Given the description of an element on the screen output the (x, y) to click on. 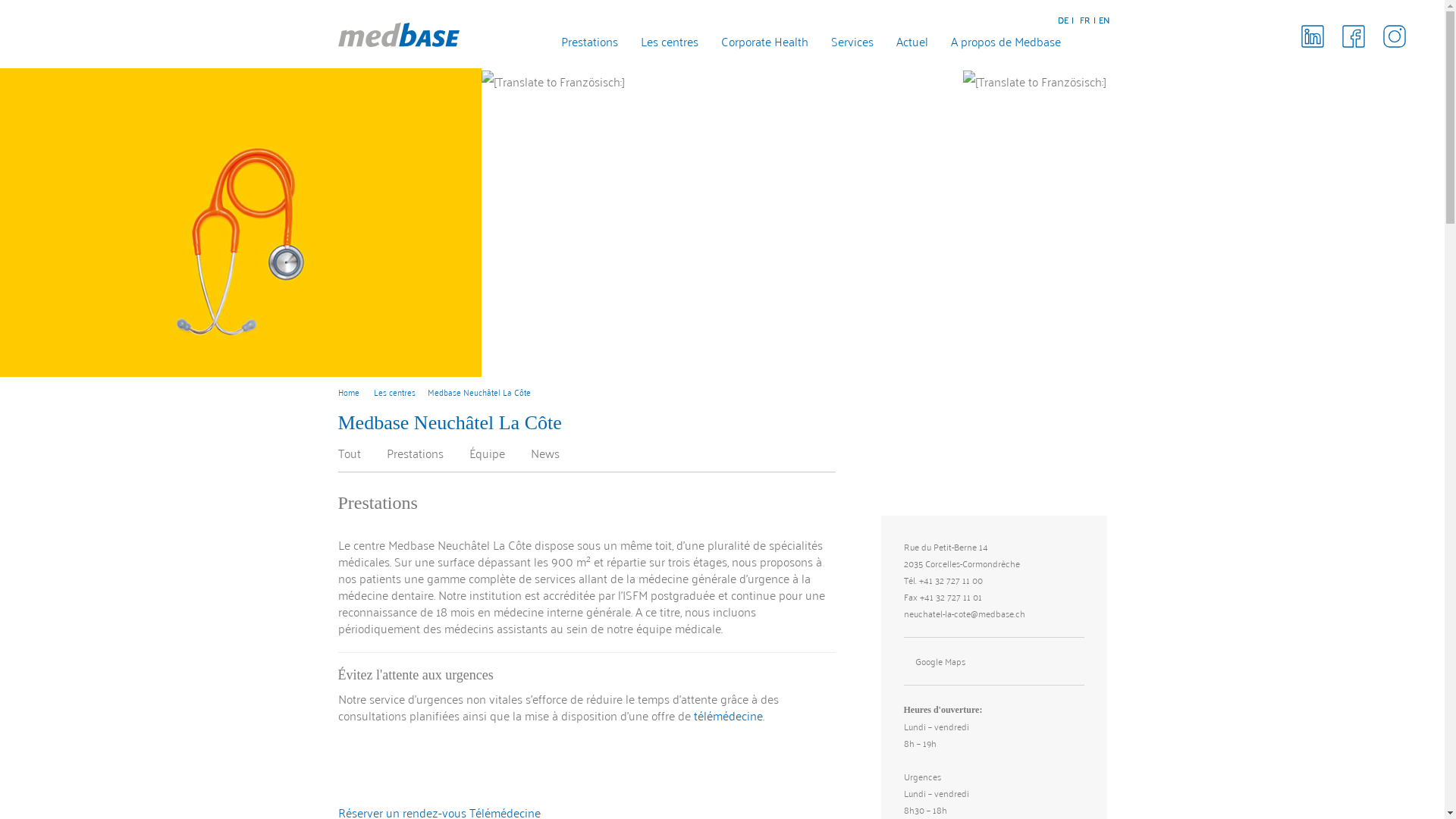
DE Element type: text (1062, 19)
Recherche Element type: text (1100, 42)
Actuel Element type: text (900, 45)
Google Maps Element type: text (993, 660)
EN Element type: text (1103, 19)
Tout Element type: text (351, 453)
Prestations Element type: text (416, 453)
Medbase Logo Element type: hover (398, 34)
Prestations Element type: text (578, 45)
News Element type: text (544, 453)
FR Element type: text (1084, 19)
Les centres Element type: text (657, 45)
Home Element type: text (348, 391)
Services Element type: text (840, 45)
Corporate Health Element type: text (752, 45)
neuchatel-la-cote@medbase.ch Element type: text (964, 613)
Les centres Element type: text (393, 391)
A propos de Medbase Element type: text (994, 45)
